Given the description of an element on the screen output the (x, y) to click on. 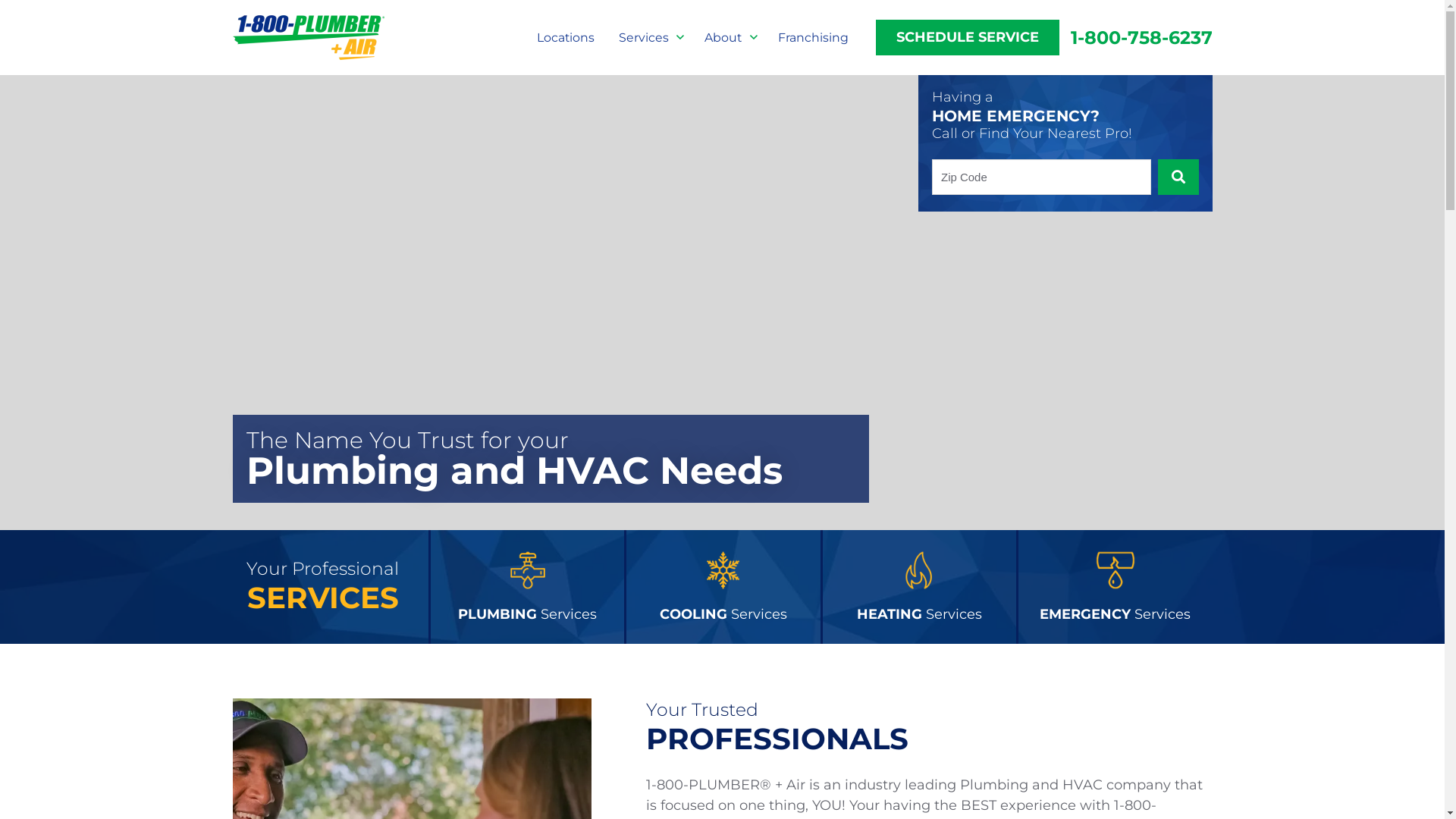
SUBMIT Element type: text (1177, 176)
Franchising Element type: text (812, 37)
Locations Element type: text (565, 37)
About Element type: text (728, 37)
SCHEDULE SERVICE Element type: text (967, 37)
Services Element type: text (649, 37)
1-800-758-6237 Element type: text (1135, 37)
